Given the description of an element on the screen output the (x, y) to click on. 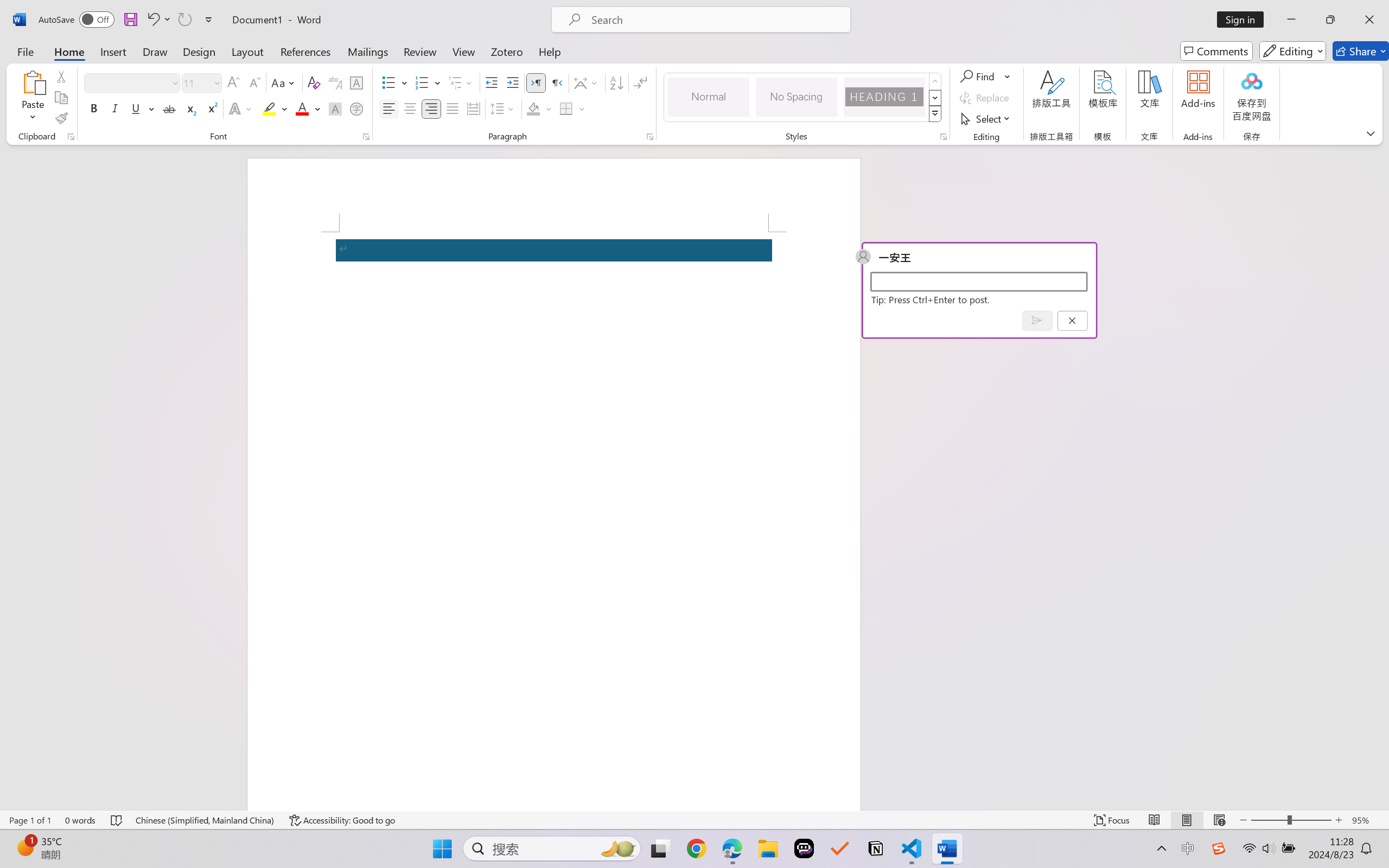
Right-to-Left (556, 82)
Cancel (1072, 320)
